Given the description of an element on the screen output the (x, y) to click on. 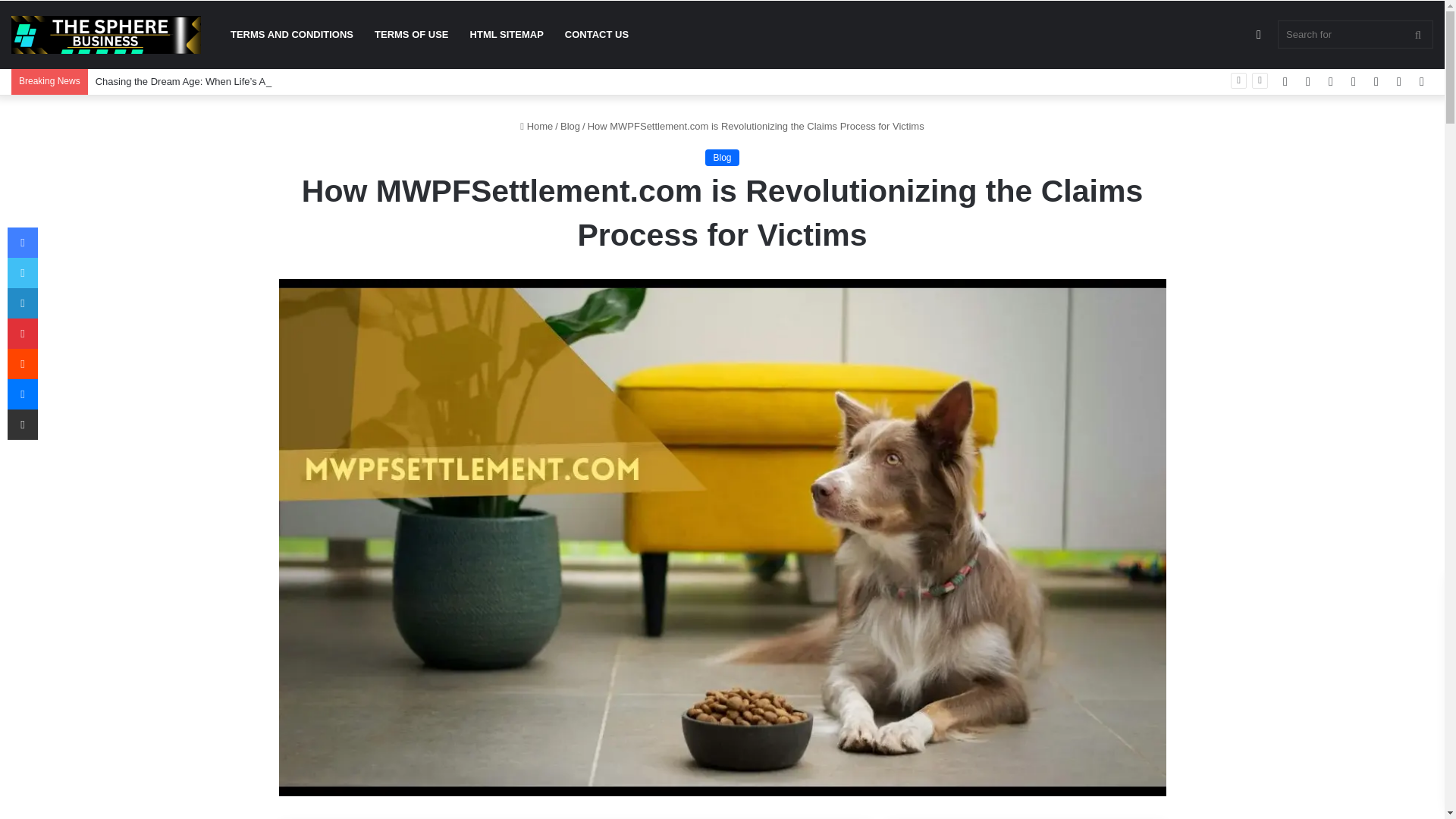
HTML SITEMAP (507, 34)
thespherebusiness.com (105, 34)
CONTACT US (596, 34)
Search for (1355, 34)
Blog (721, 157)
Blog (569, 125)
TERMS OF USE (412, 34)
TERMS AND CONDITIONS (291, 34)
Home (536, 125)
